Given the description of an element on the screen output the (x, y) to click on. 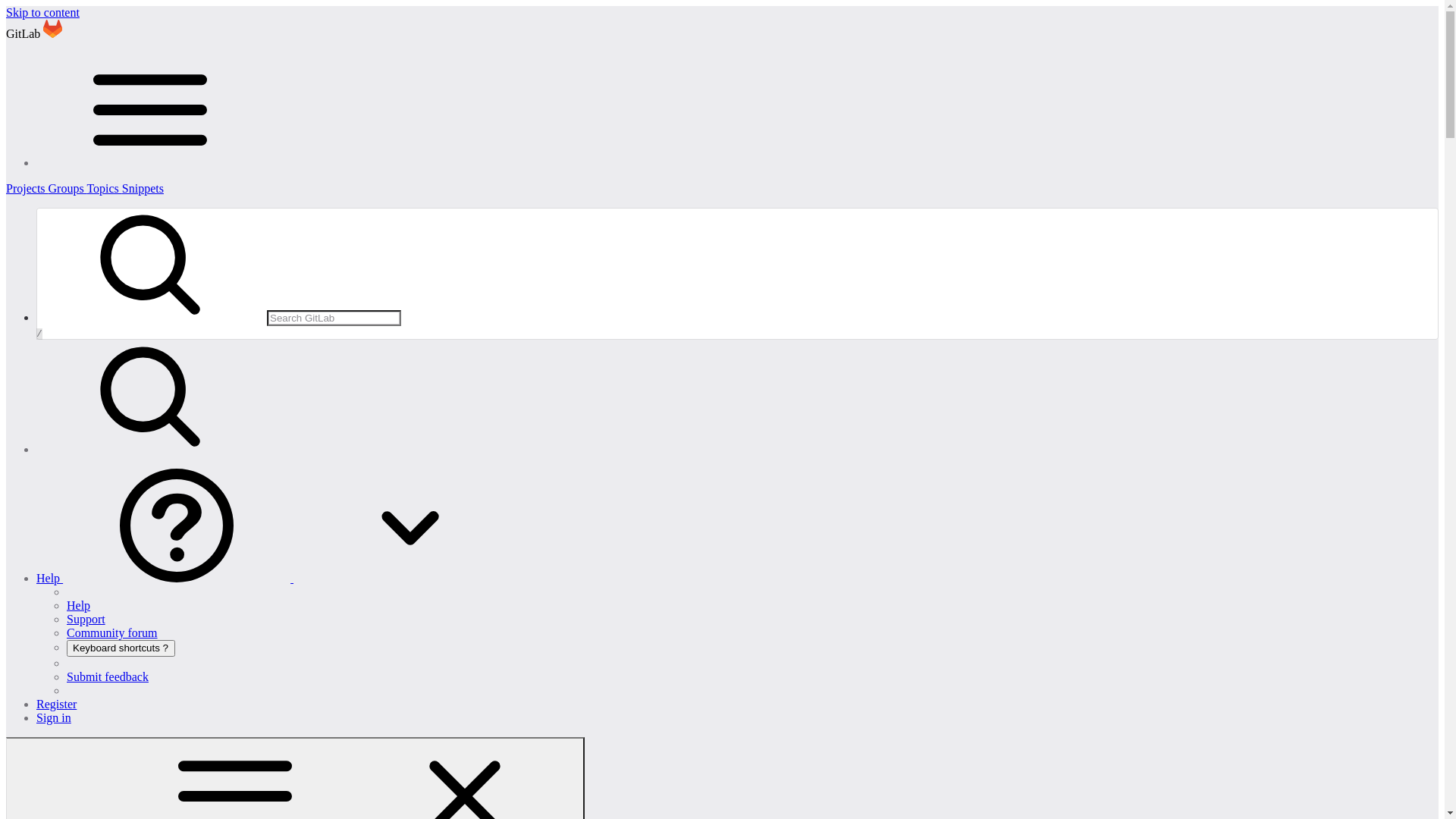
Homepage Element type: hover (52, 33)
Community forum Element type: text (111, 632)
Topics Element type: text (103, 188)
Sign in Element type: text (53, 717)
Groups Element type: text (67, 188)
Submit feedback Element type: text (107, 676)
Snippets Element type: text (142, 188)
Projects Element type: text (27, 188)
Keyboard shortcuts ? Element type: text (120, 648)
Skip to content Element type: text (42, 12)
Register Element type: text (56, 703)
Search Element type: hover (149, 448)
Help Element type: text (280, 577)
Help Element type: text (78, 605)
Support Element type: text (85, 618)
